Given the description of an element on the screen output the (x, y) to click on. 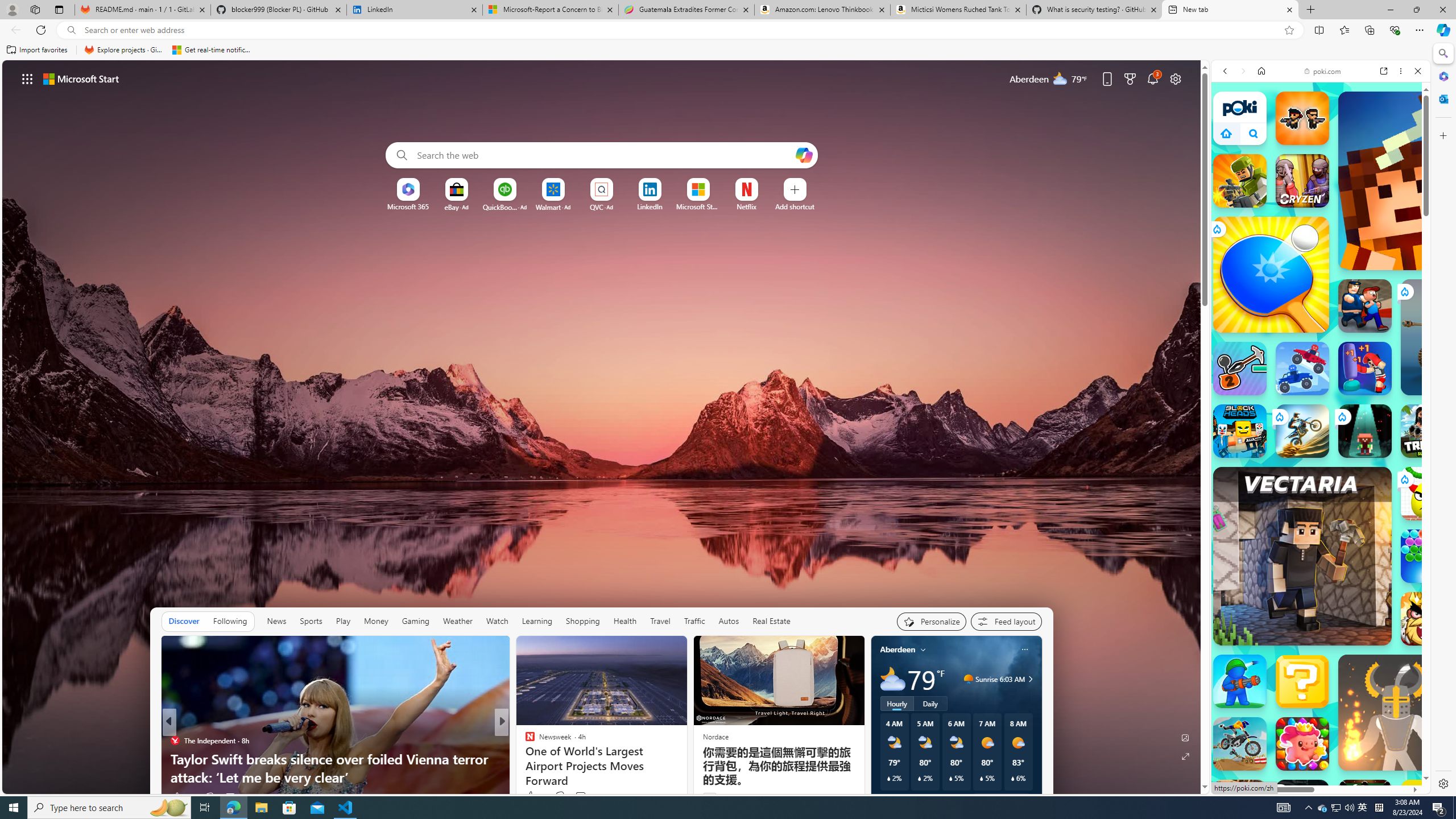
Zombie Rush (1302, 117)
Search icon (70, 29)
Hills of Steel (1264, 542)
Mostly cloudy (892, 678)
Quivershot Quivershot (1364, 430)
Add a site (793, 206)
